Given the description of an element on the screen output the (x, y) to click on. 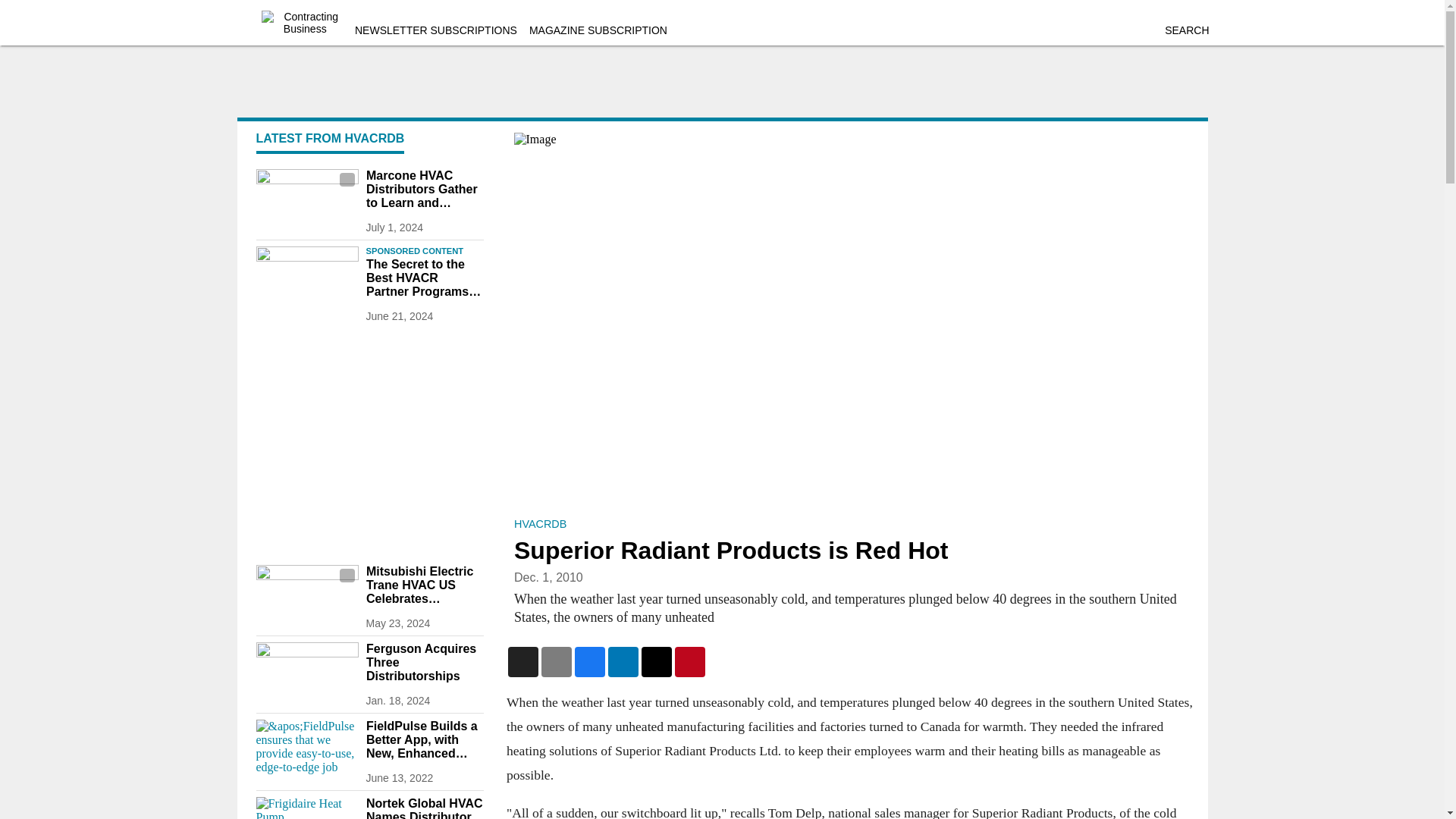
Ferguson Acquires Three Distributorships (424, 662)
HVACRDB (539, 523)
FieldPulse Builds a Better App, with New, Enhanced Features (424, 739)
SEARCH (1186, 30)
MAGAZINE SUBSCRIPTION (597, 30)
NEWSLETTER SUBSCRIPTIONS (435, 30)
Marcone HVAC Distributors Gather to Learn and Network (424, 188)
Nortek Global HVAC Names Distributor for DFW Metro (424, 807)
Frigidaire Heat Pump (307, 807)
